Given the description of an element on the screen output the (x, y) to click on. 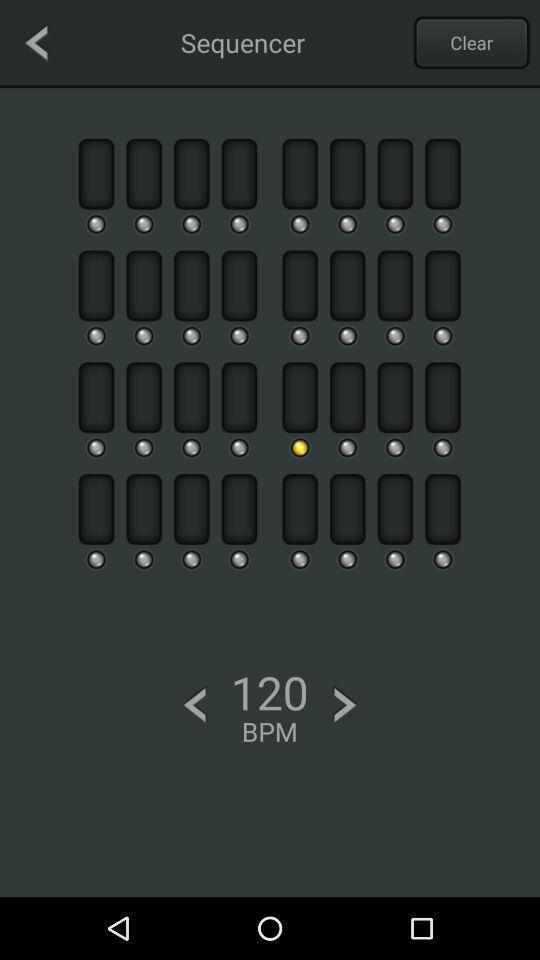
bpm down button (194, 704)
